Given the description of an element on the screen output the (x, y) to click on. 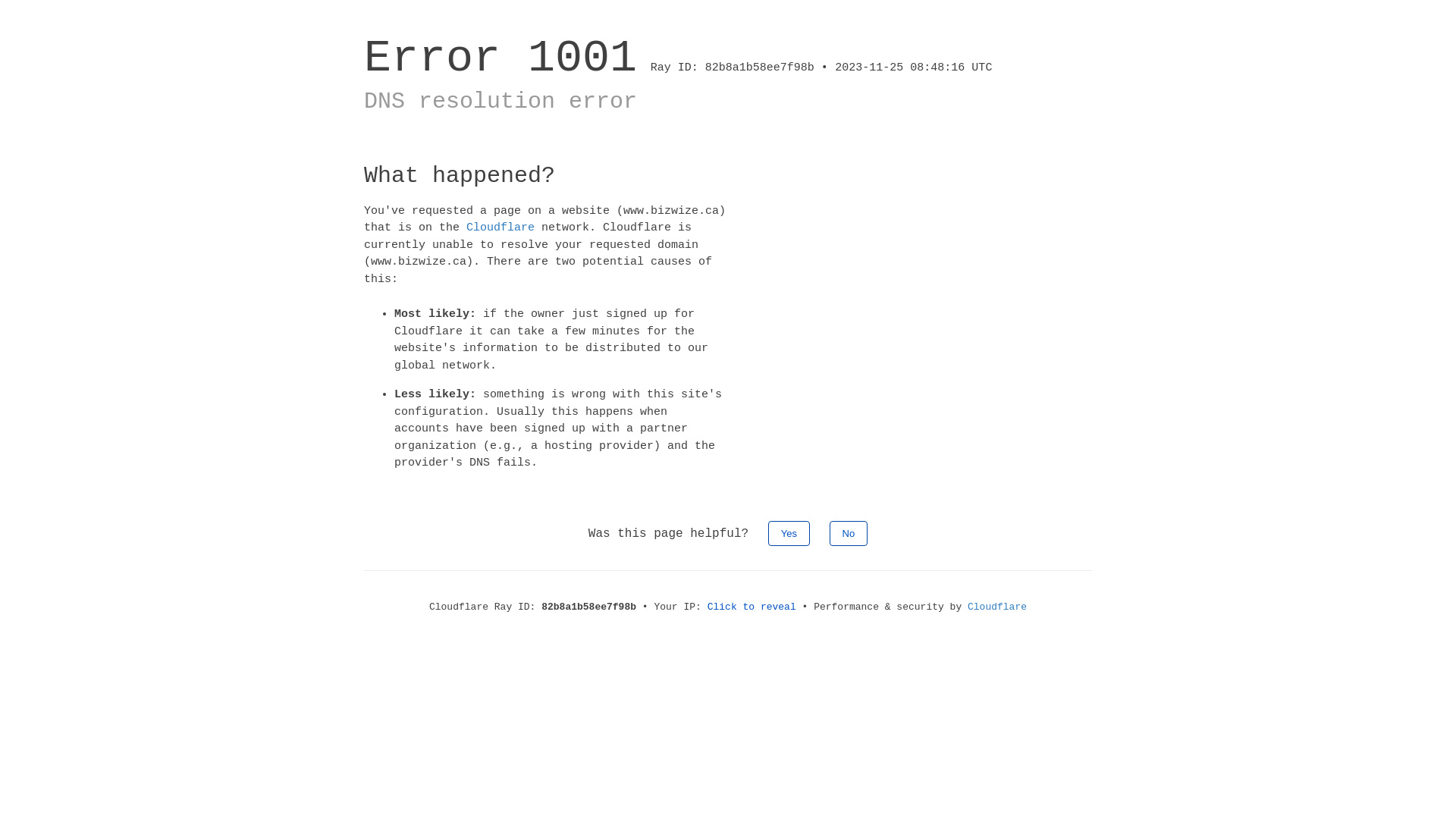
No Element type: text (848, 532)
Cloudflare Element type: text (996, 605)
Click to reveal Element type: text (751, 605)
Cloudflare Element type: text (500, 227)
Yes Element type: text (788, 532)
